Given the description of an element on the screen output the (x, y) to click on. 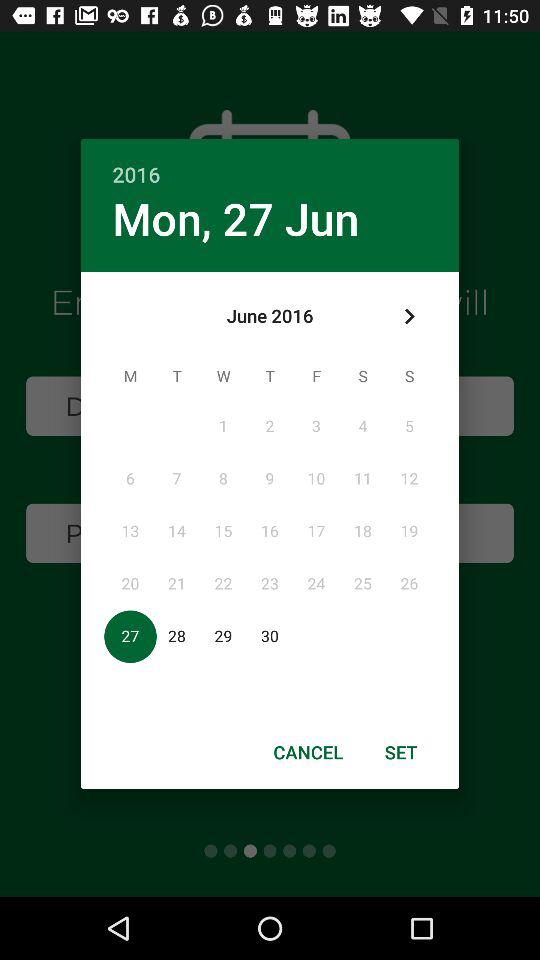
click item at the bottom right corner (401, 751)
